Given the description of an element on the screen output the (x, y) to click on. 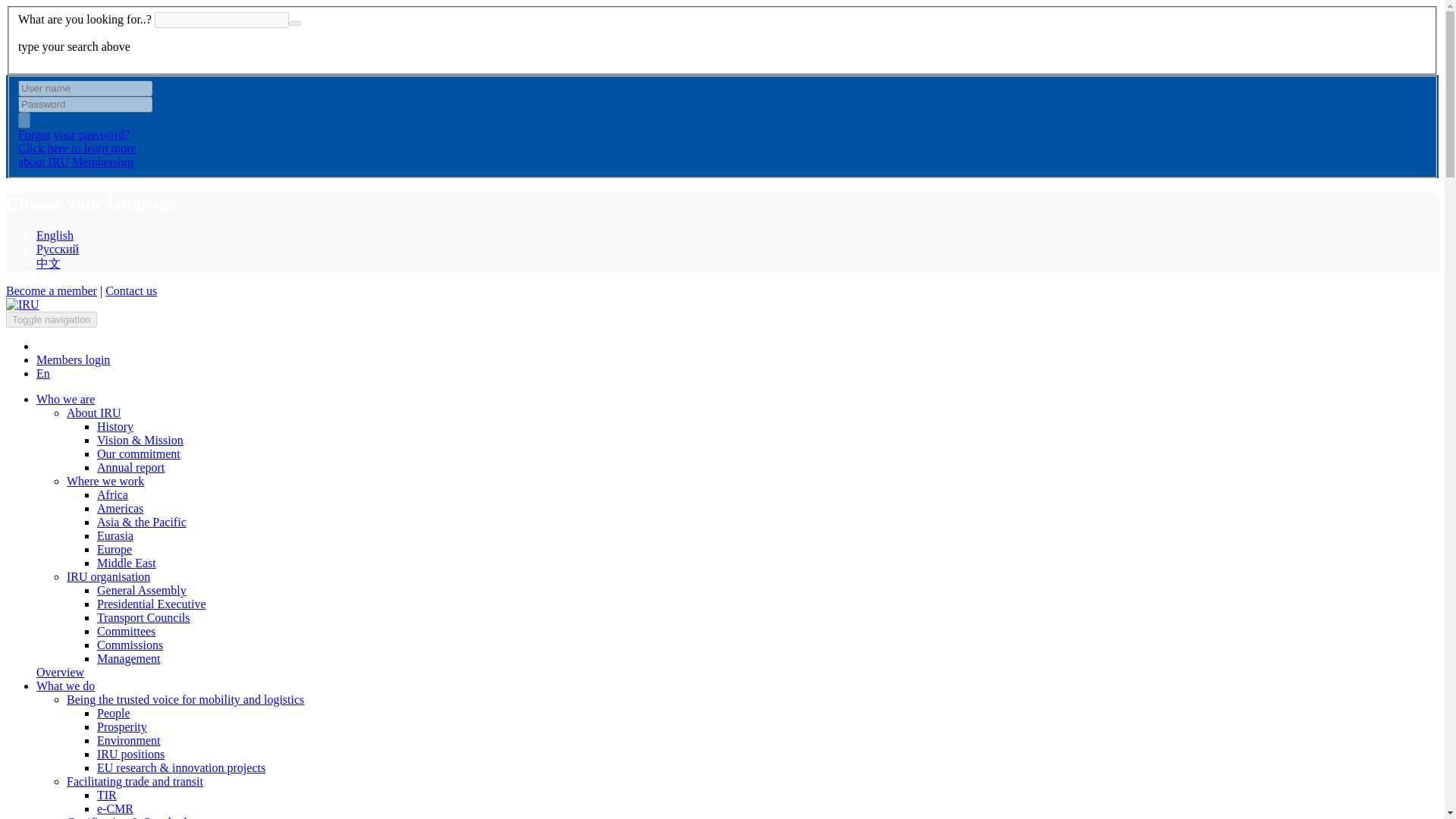
Forgot your password? (73, 133)
Committees (126, 631)
Members login (73, 359)
En (42, 373)
Log in (73, 359)
What we do (76, 154)
Transport Councils (65, 685)
Toggle navigation (143, 617)
Who we are (51, 319)
About IRU (65, 399)
Our commitment (93, 412)
IRU organisation (138, 453)
Americas (107, 576)
General Assembly (119, 508)
